Given the description of an element on the screen output the (x, y) to click on. 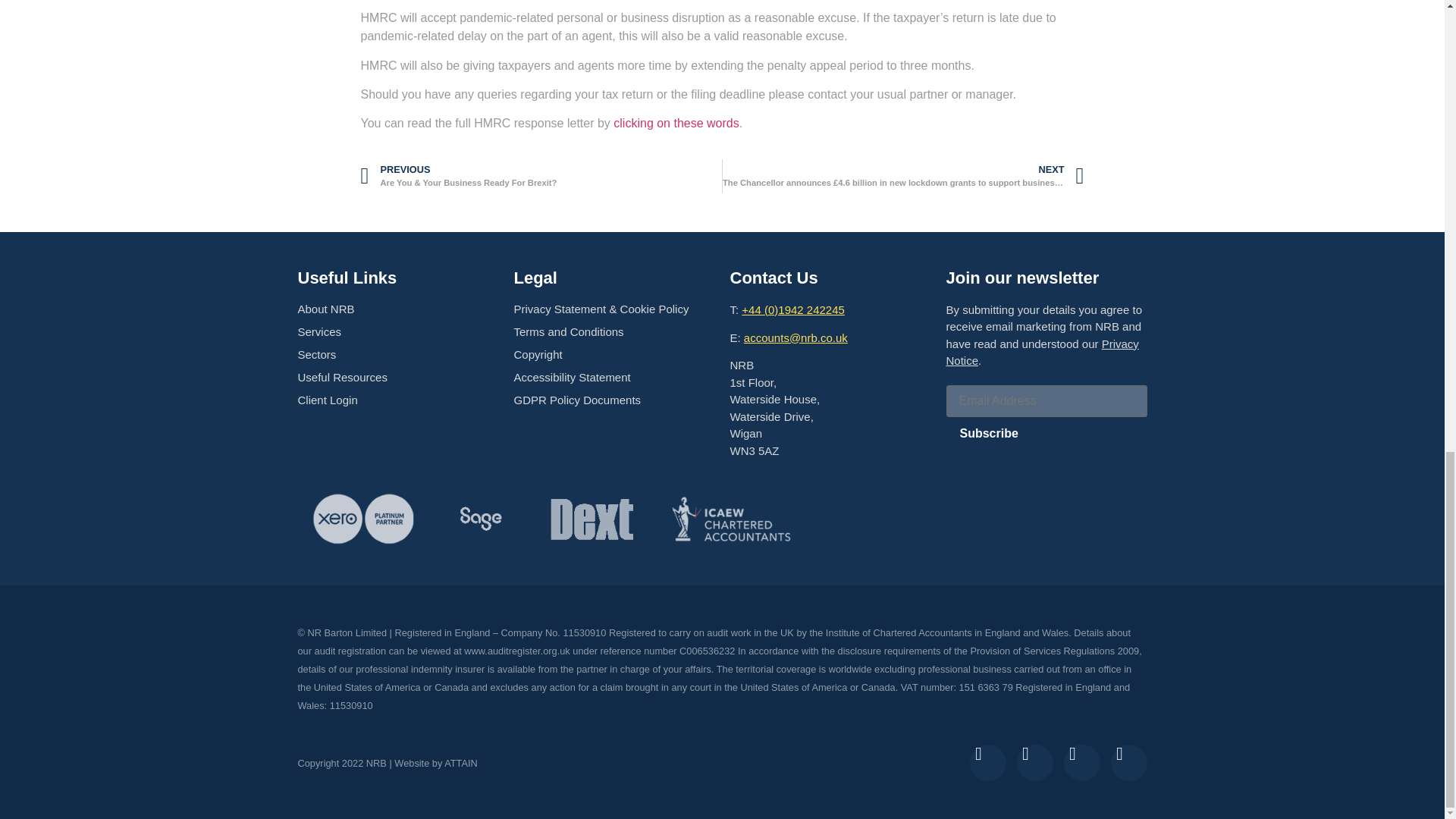
Subscribe (989, 433)
